Given the description of an element on the screen output the (x, y) to click on. 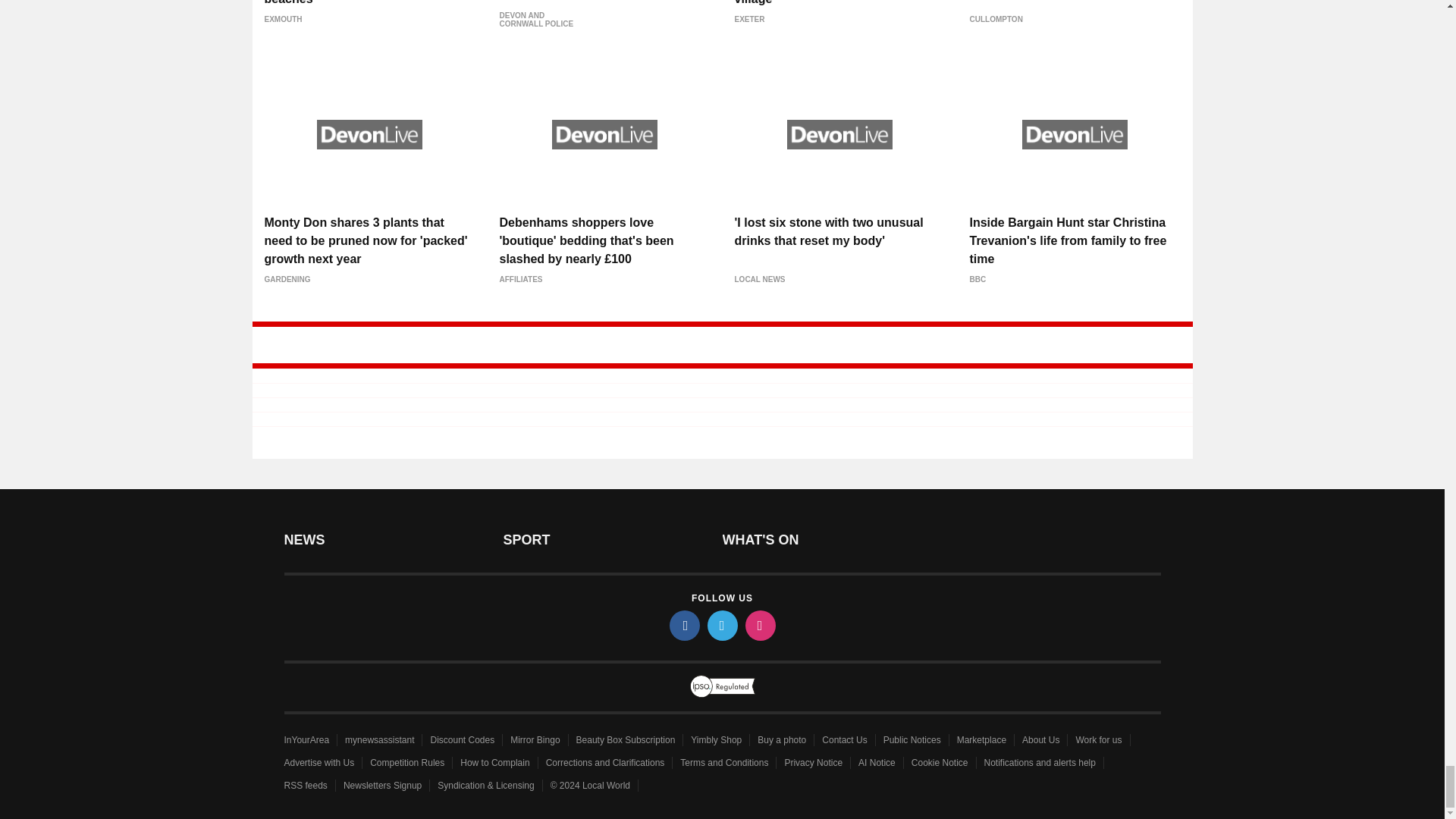
twitter (721, 625)
instagram (759, 625)
facebook (683, 625)
